Given the description of an element on the screen output the (x, y) to click on. 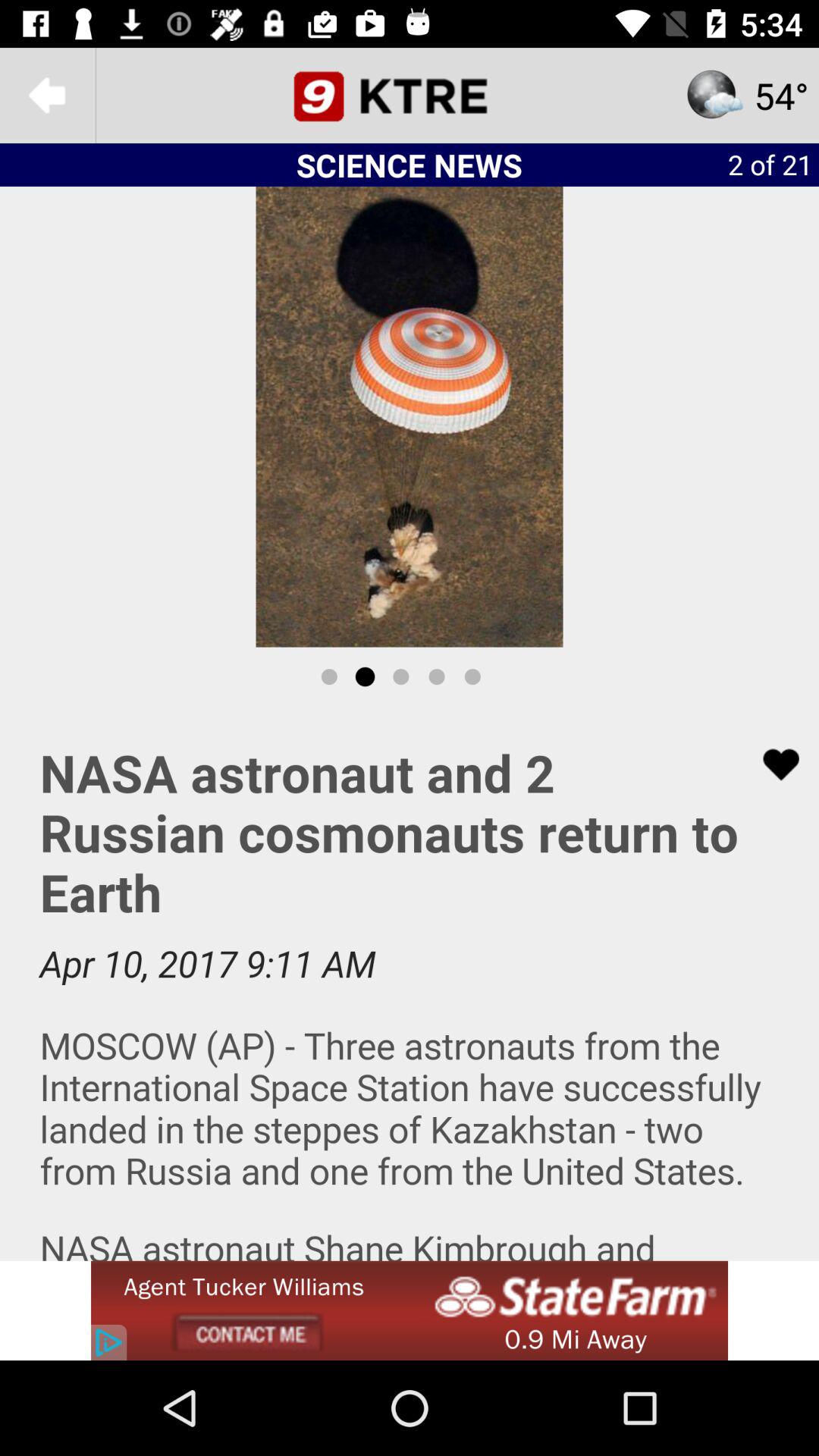
link button (771, 764)
